Given the description of an element on the screen output the (x, y) to click on. 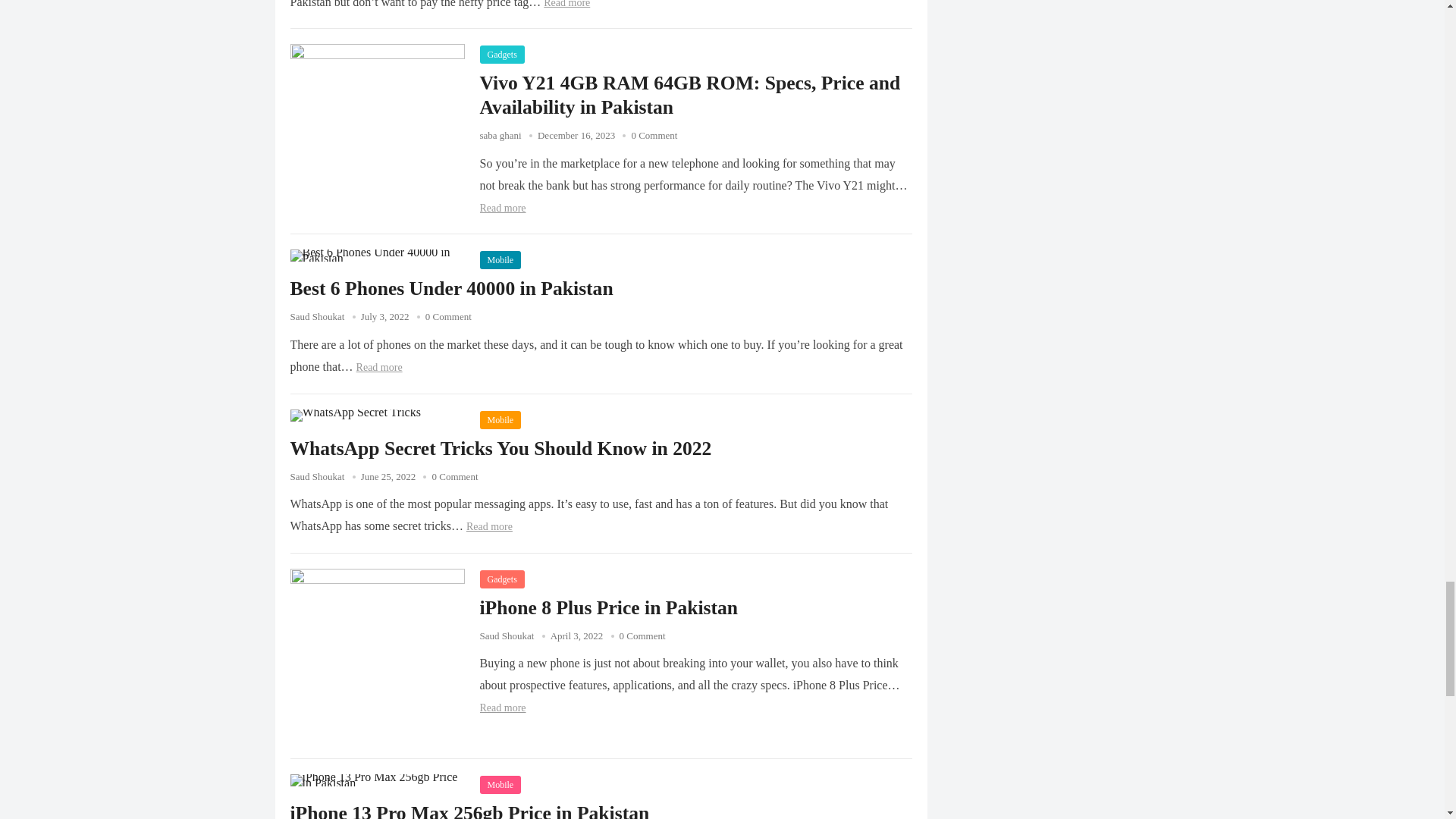
Posts by Saud Shoukat (506, 635)
Posts by saba ghani (500, 134)
Posts by Saud Shoukat (316, 316)
Posts by Saud Shoukat (316, 476)
